Given the description of an element on the screen output the (x, y) to click on. 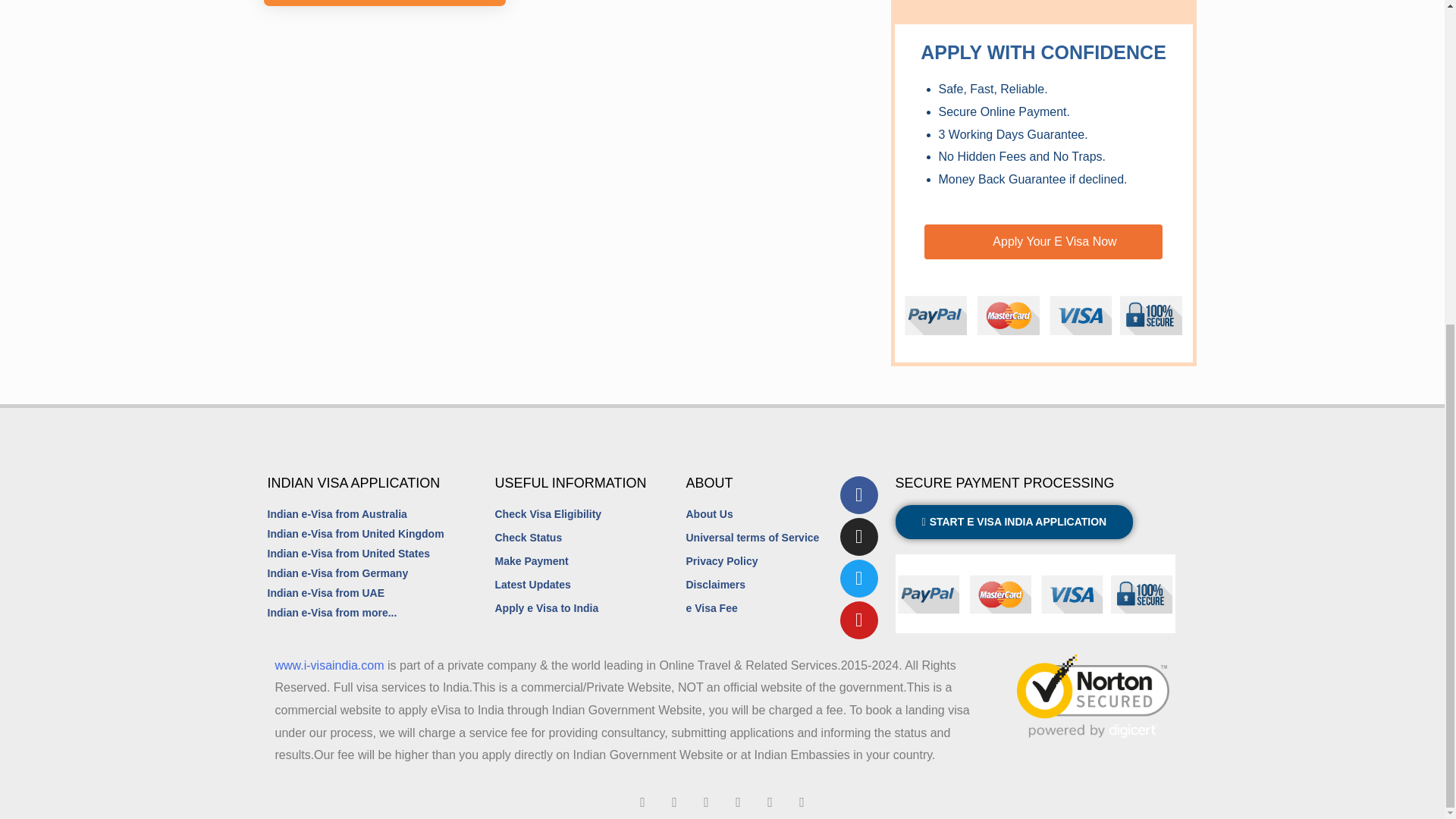
Indian e-Visa from Australia (336, 514)
Indian e-Visa from Germany (336, 573)
Indian e-Visa from United Kingdom (355, 534)
ONLINE eVISA APPLICATION (384, 2)
Apply Your E Visa Now (1042, 241)
Indian e-Visa from United States (347, 554)
